Given the description of an element on the screen output the (x, y) to click on. 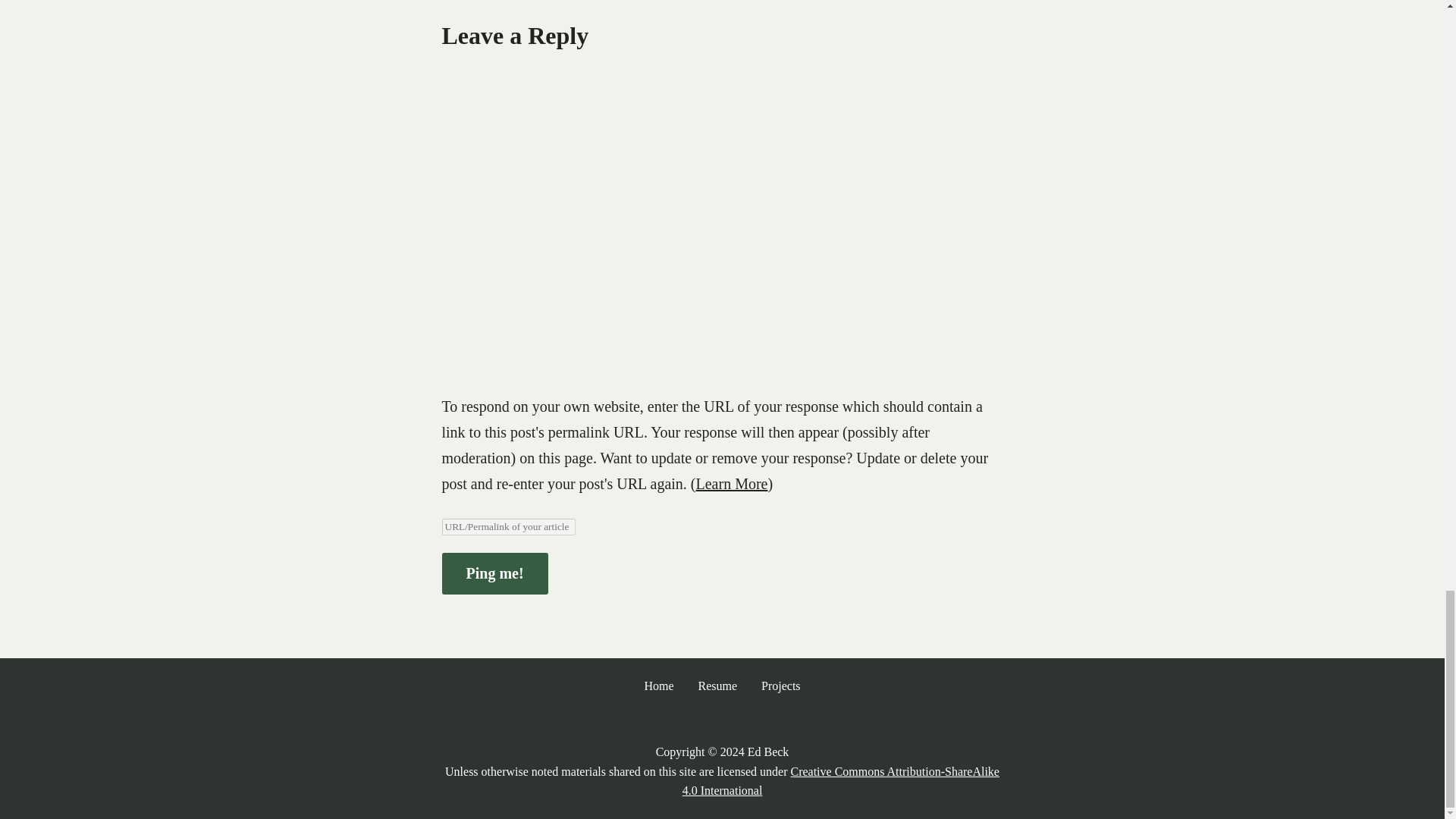
Projects (780, 686)
Ping me! (494, 573)
Home (657, 686)
Learn More (731, 483)
Ping me! (494, 573)
Creative Commons Attribution-ShareAlike 4.0 International (840, 780)
Resume (716, 686)
